Given the description of an element on the screen output the (x, y) to click on. 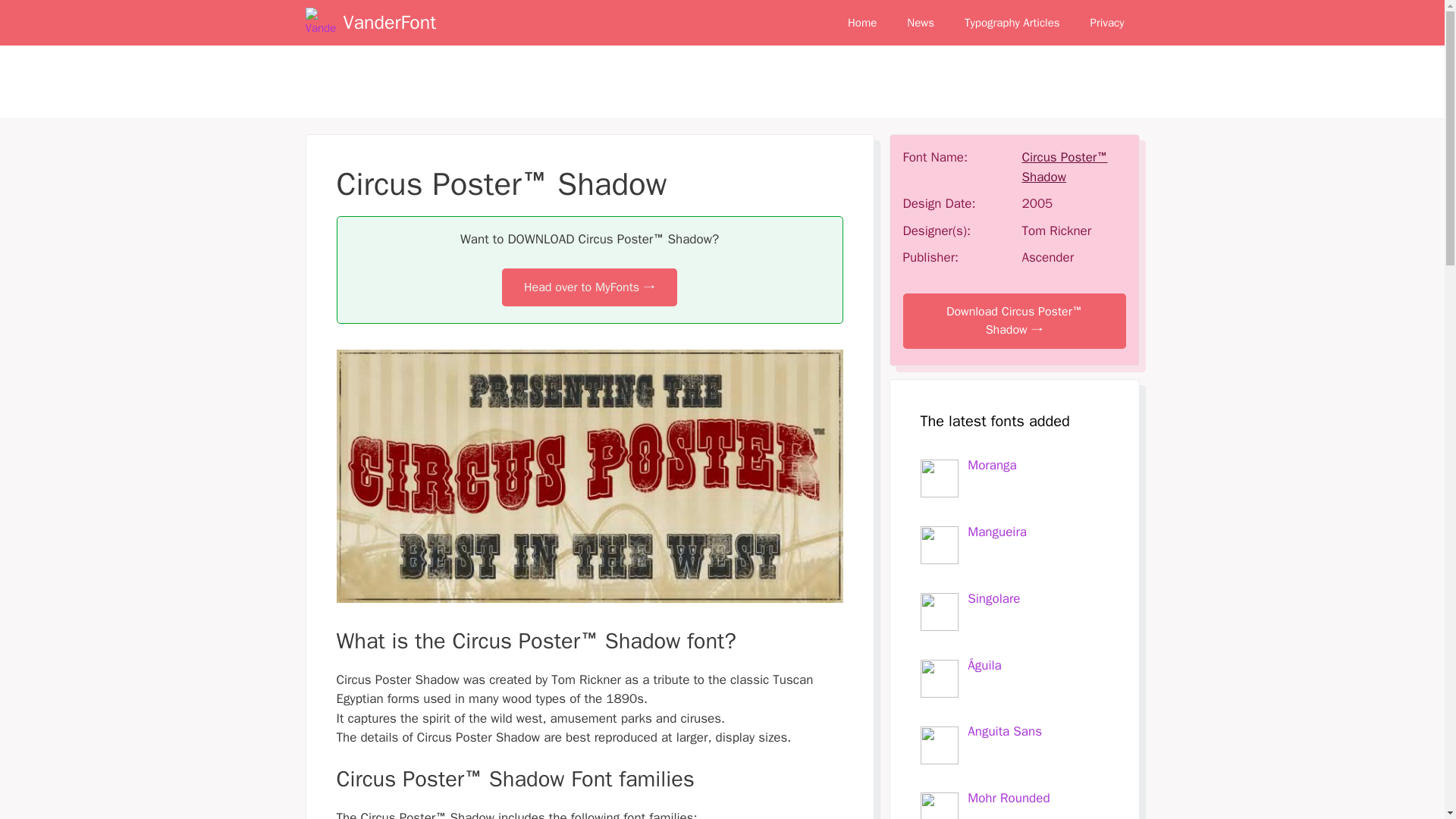
Anguita Sans (1005, 731)
Singolare (994, 598)
Moranga (992, 465)
News (920, 22)
Home (861, 22)
Typography Articles (1012, 22)
Mangueira (997, 531)
Privacy (1107, 22)
VanderFont (388, 22)
